Given the description of an element on the screen output the (x, y) to click on. 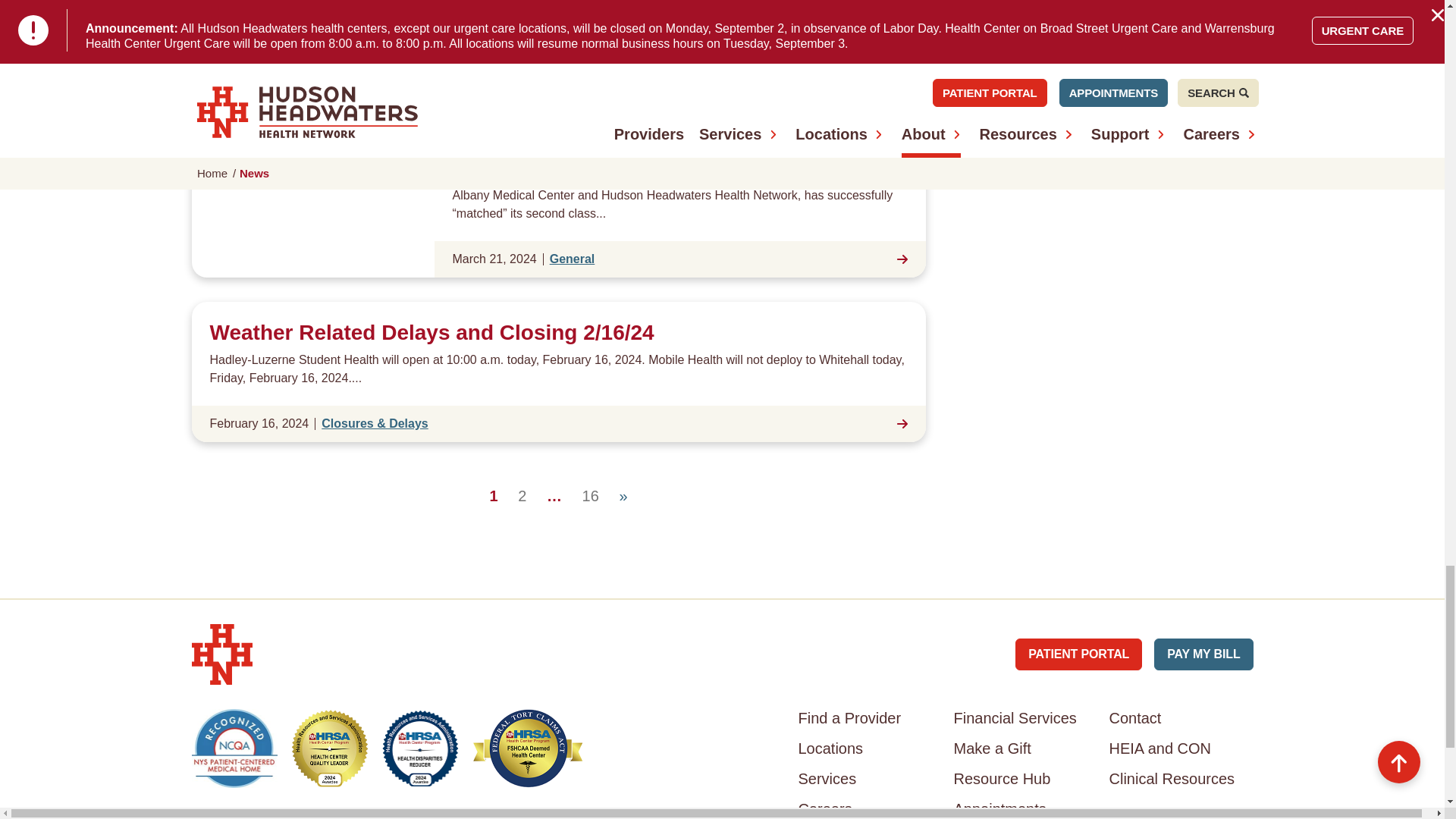
HRSA 2024 Health Center Quality Leader (329, 748)
2024 HRSA Addressing Social Risk Factors Awardee (420, 748)
FSHCAA Deemed Health Center (527, 748)
NCQA Patient-Centered Medical Home Recognized Practice (234, 748)
